Given the description of an element on the screen output the (x, y) to click on. 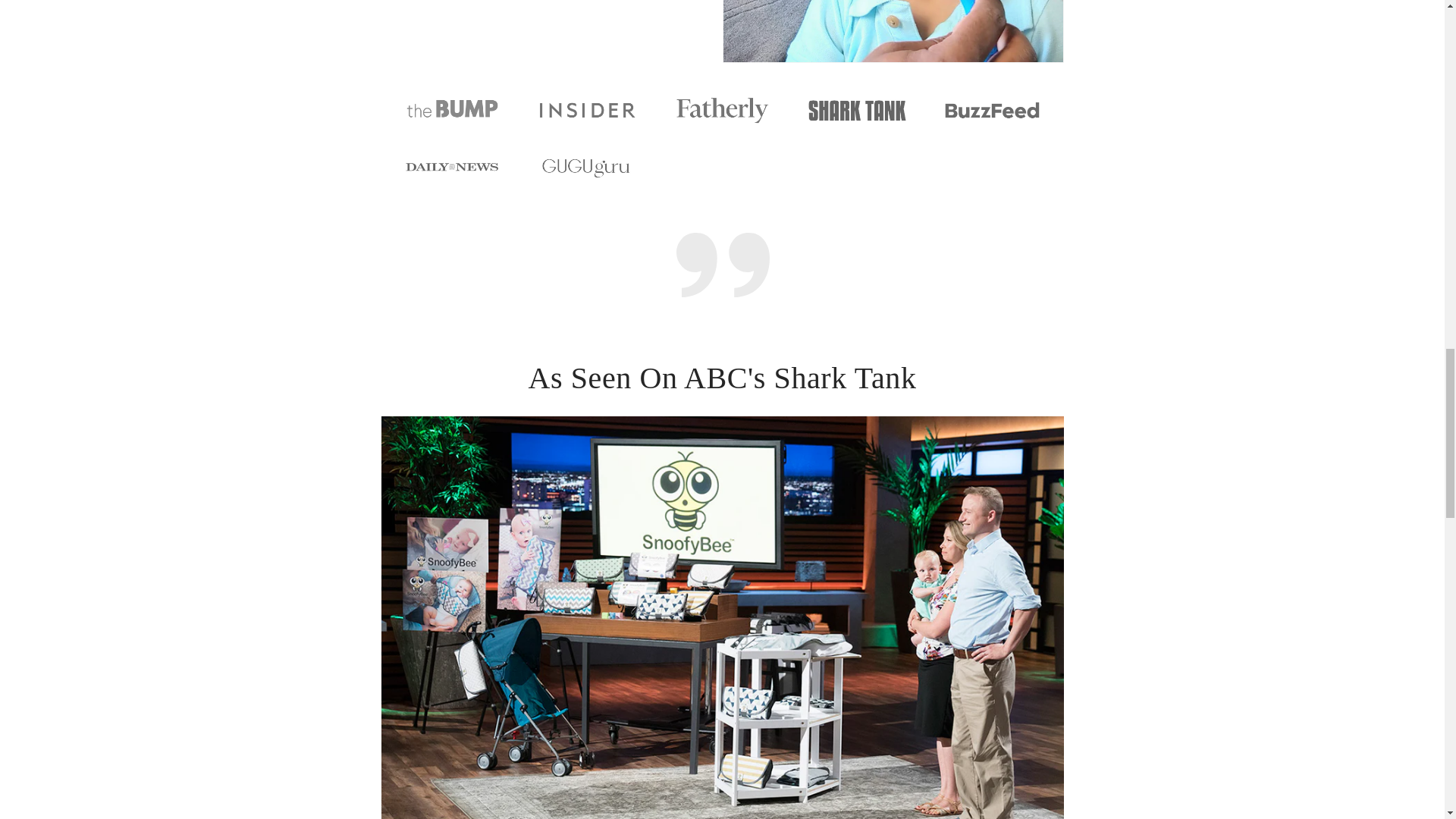
Carousel testimonials reviews widget (721, 271)
